Given the description of an element on the screen output the (x, y) to click on. 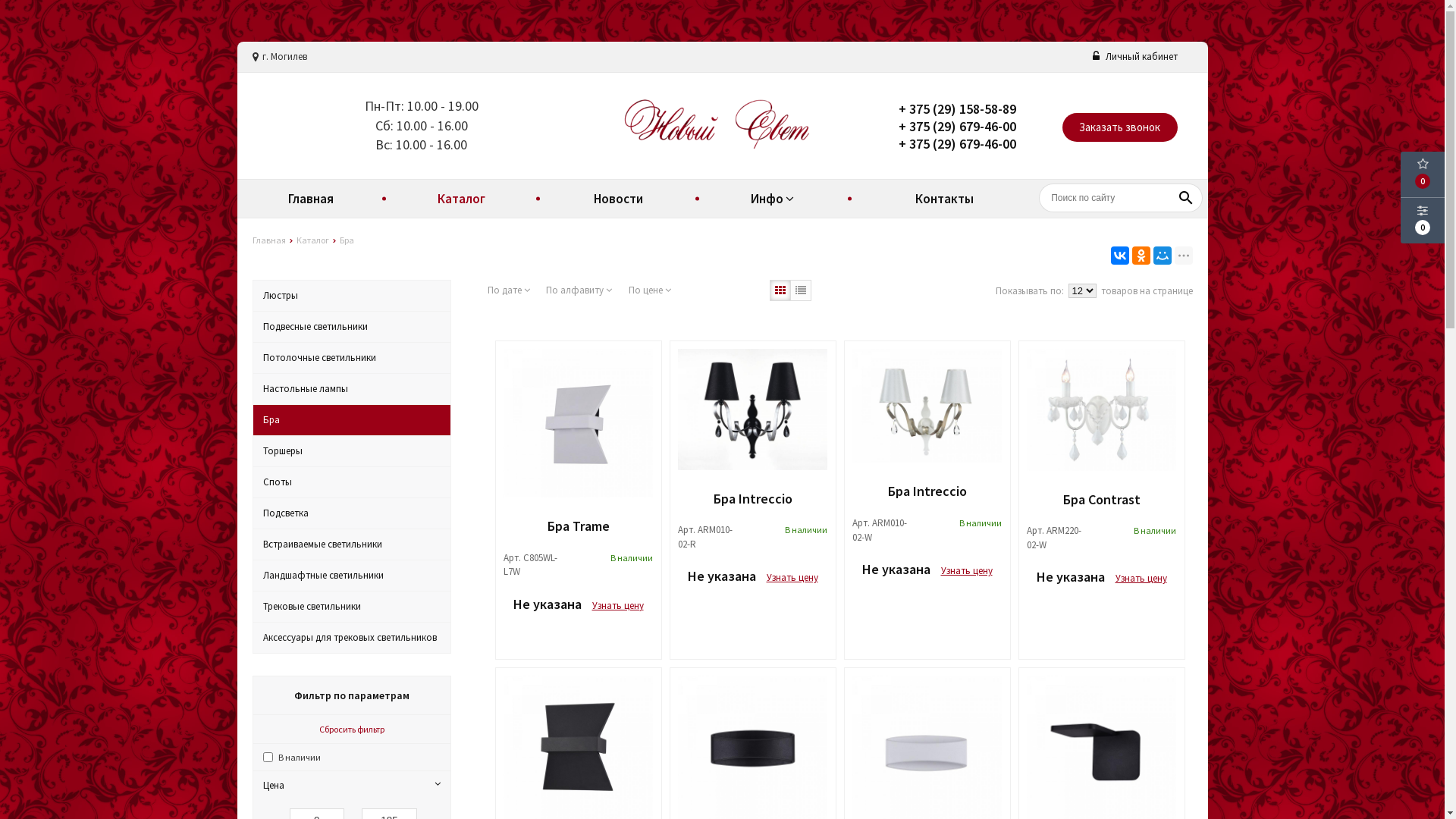
0 Element type: text (1422, 220)
search Element type: text (1186, 197)
+ 375 (29) 158-58-89 Element type: text (956, 108)
+ 375 (29) 679-46-00 Element type: text (956, 143)
+ 375 (29) 679-46-00 Element type: text (956, 125)
0 Element type: text (1422, 174)
